Given the description of an element on the screen output the (x, y) to click on. 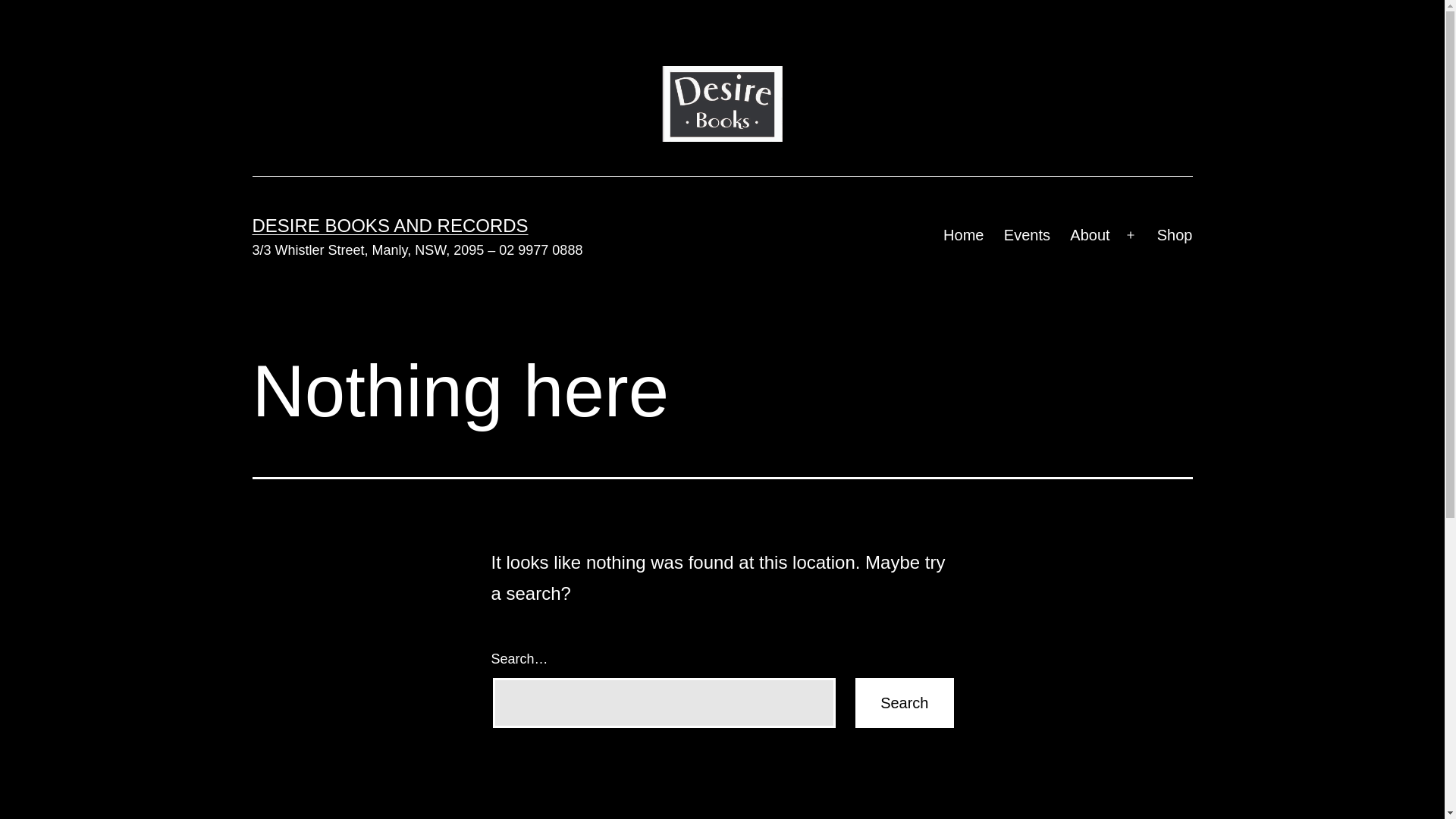
Search Element type: text (904, 702)
Home Element type: text (963, 235)
Shop Element type: text (1174, 235)
DESIRE BOOKS AND RECORDS Element type: text (389, 225)
Open menu Element type: text (1130, 235)
Events Element type: text (1027, 235)
About Element type: text (1090, 235)
